Given the description of an element on the screen output the (x, y) to click on. 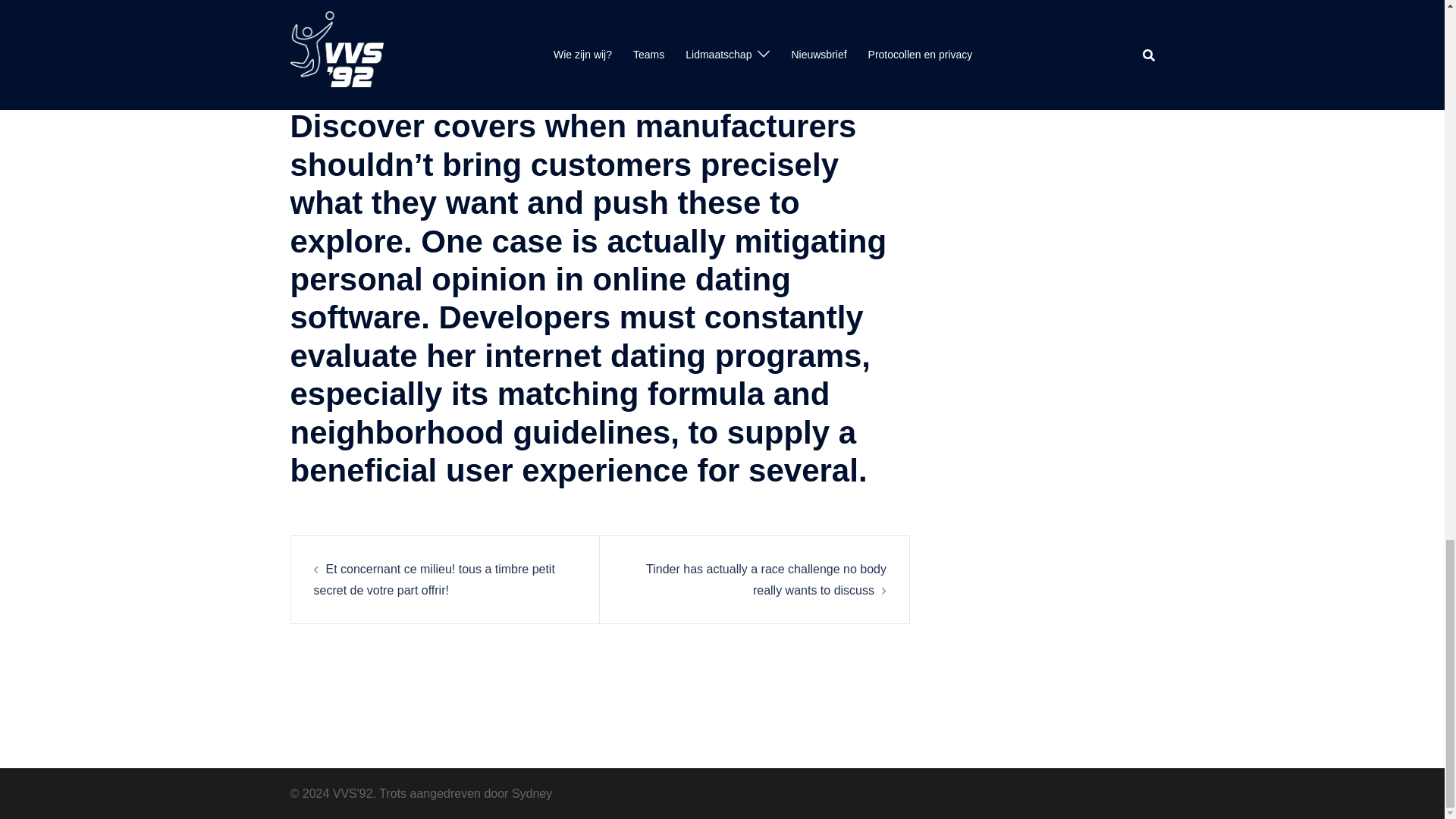
Sydney (531, 793)
